Given the description of an element on the screen output the (x, y) to click on. 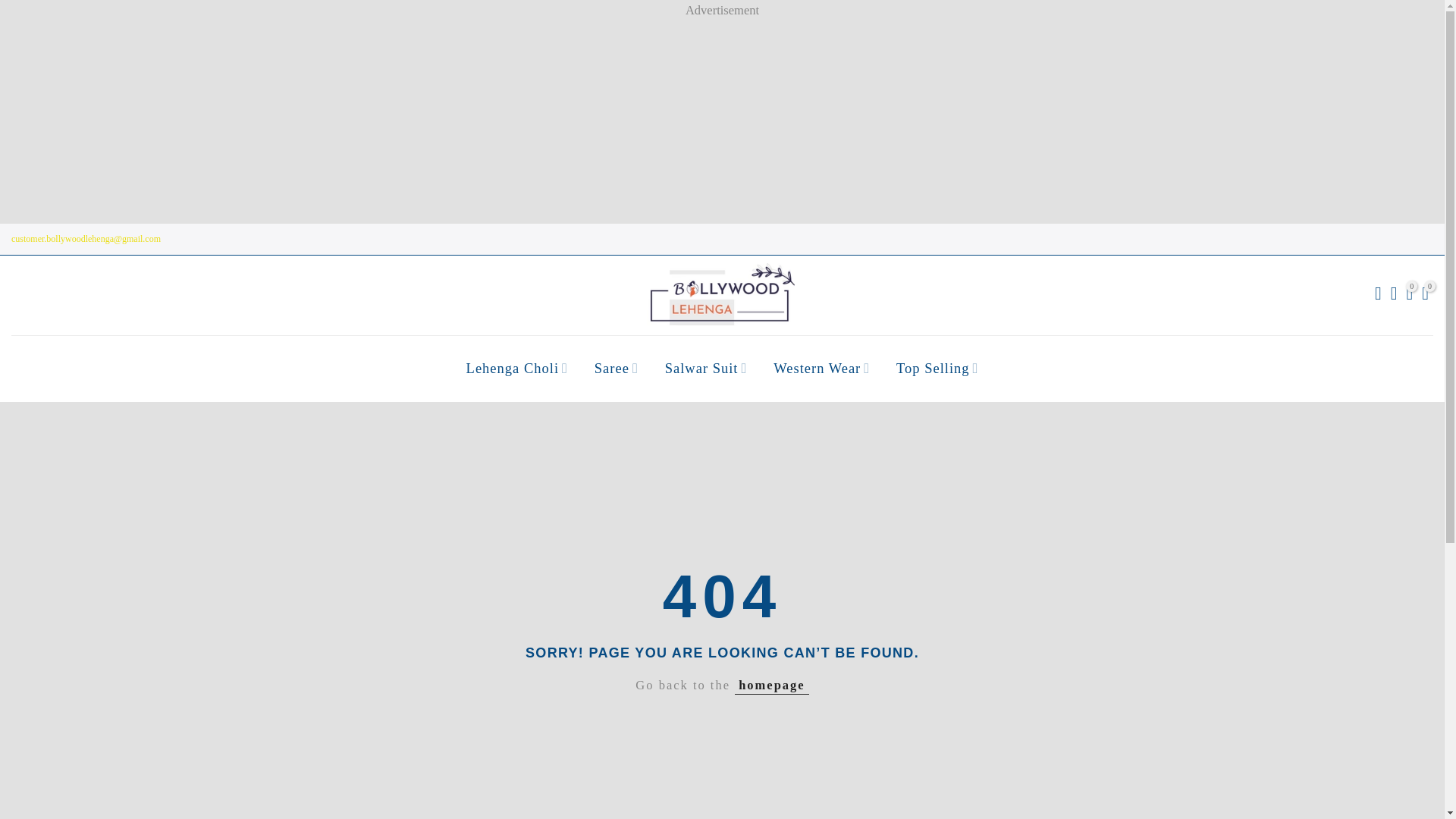
Western Wear (821, 368)
Lehenga Choli (516, 368)
homepage (772, 685)
Salwar Suit (705, 368)
Top Selling (937, 368)
Saree (615, 368)
